Given the description of an element on the screen output the (x, y) to click on. 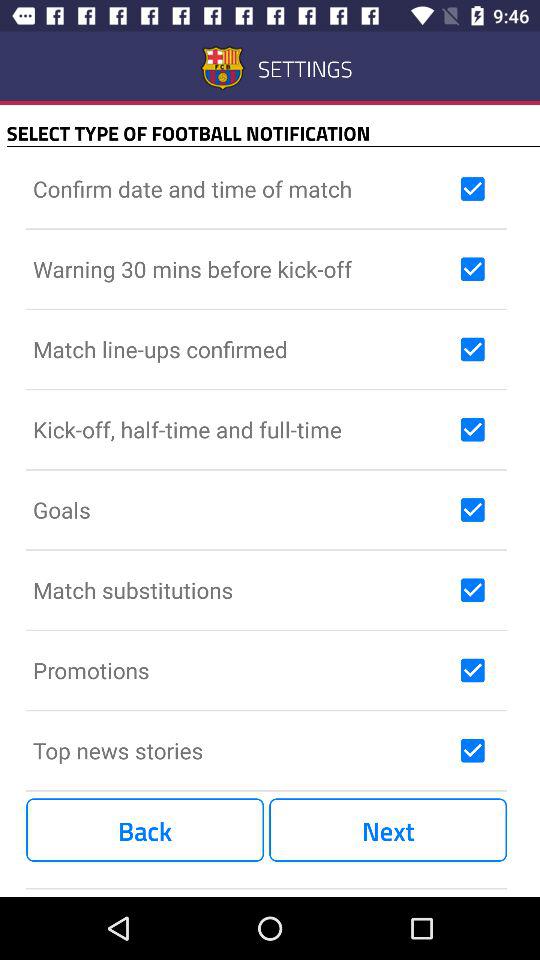
toggle top news stories option (472, 750)
